Given the description of an element on the screen output the (x, y) to click on. 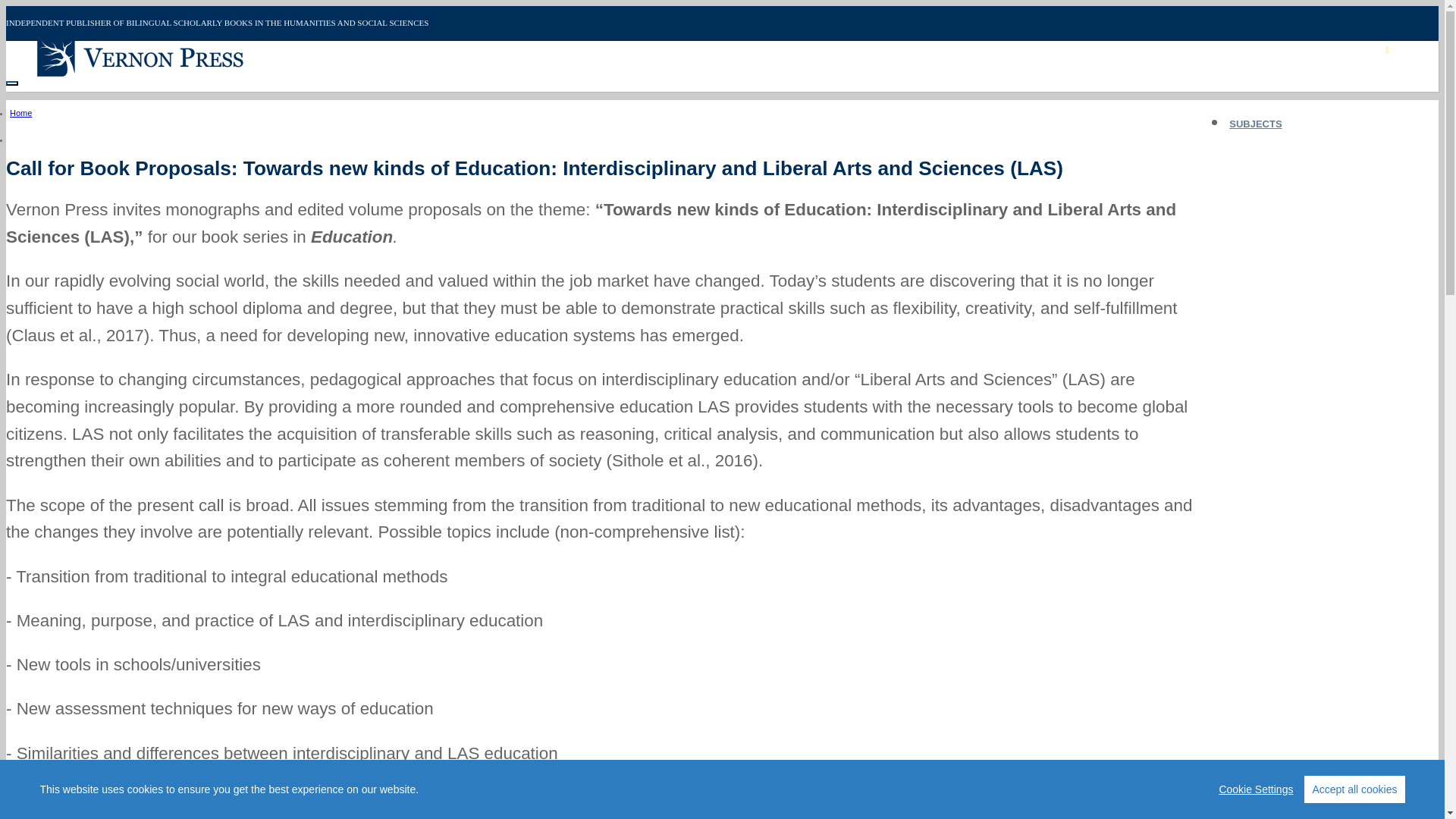
Accept all cookies (1354, 789)
ORDERING (1255, 178)
Cookie Settings (1255, 788)
BOOKS (1247, 151)
SUBJECTS (1255, 123)
